Given the description of an element on the screen output the (x, y) to click on. 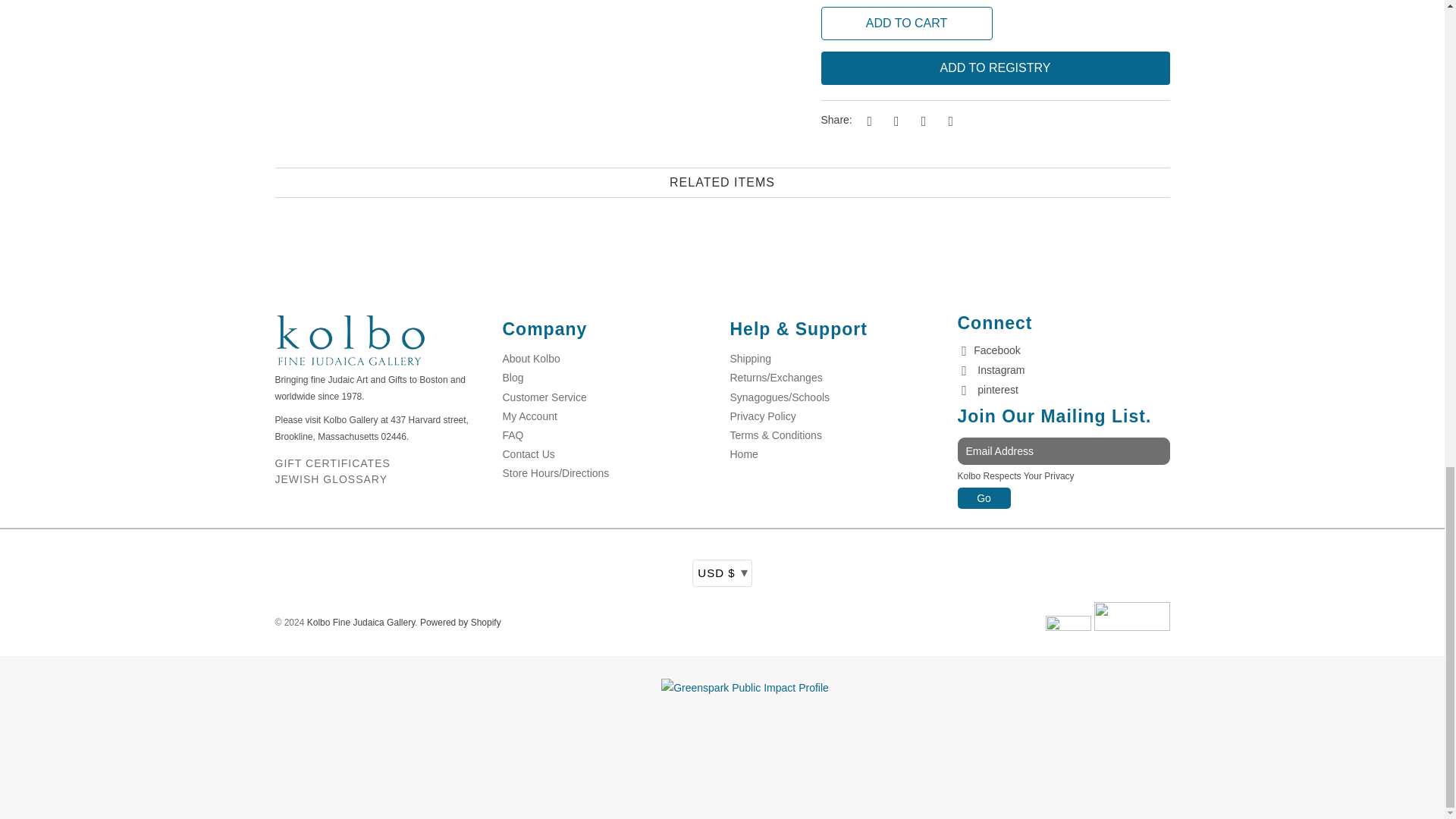
Kolbo Fine Judaica Gallery on Instagram (990, 369)
Kolbo Fine Judaica Gallery on Facebook (988, 350)
Add to Registry (995, 68)
Share this on Pinterest (920, 120)
Share this on Twitter (867, 120)
Email this to a friend (948, 120)
Share this on Facebook (893, 120)
Go (983, 497)
Kolbo Fine Judaica Gallery on Pinterest (986, 389)
